Given the description of an element on the screen output the (x, y) to click on. 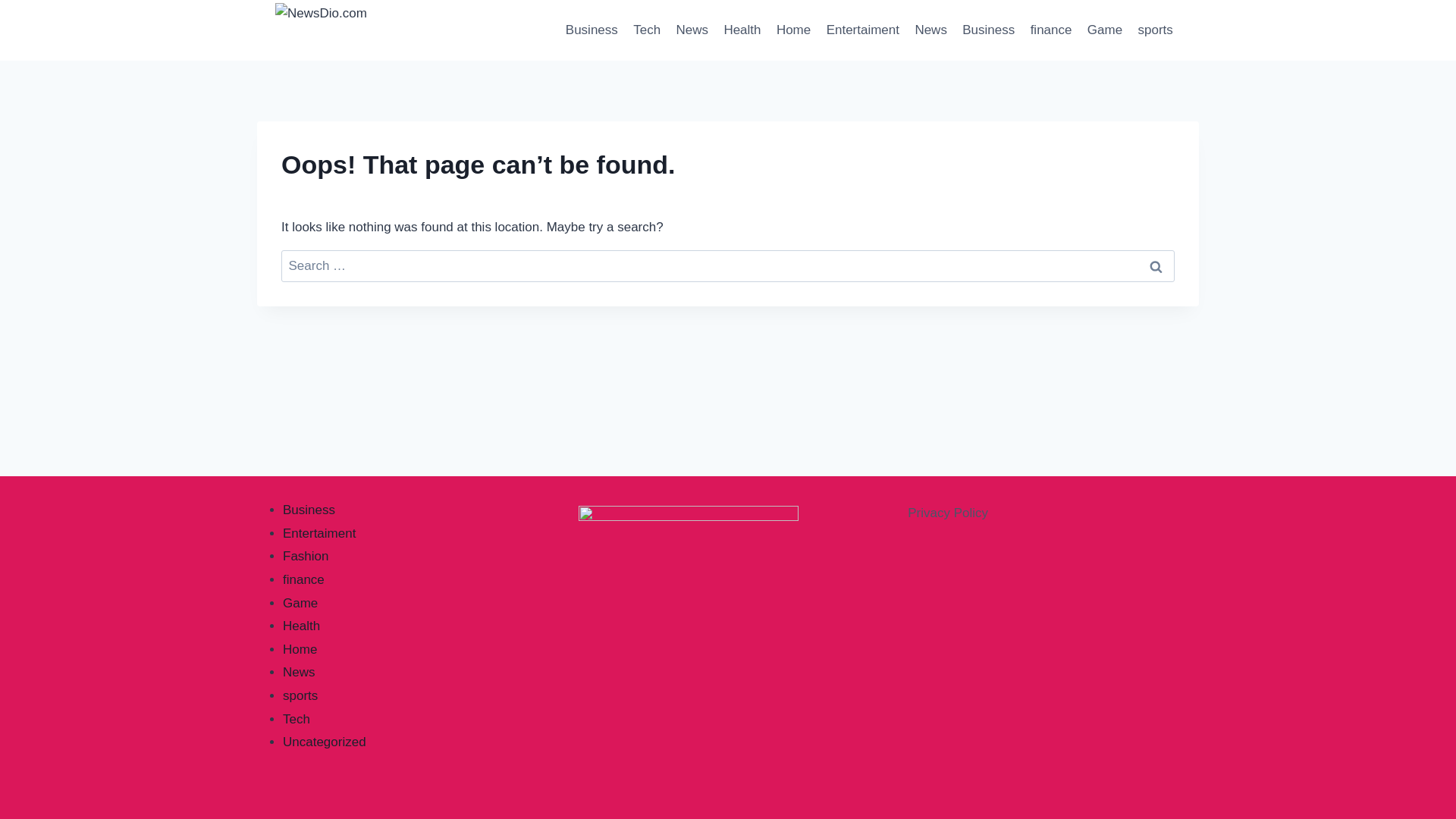
Business (591, 30)
Business (988, 30)
News (931, 30)
Entertaiment (862, 30)
Business (308, 509)
Tech (647, 30)
Uncategorized (324, 741)
Home (793, 30)
Game (299, 603)
News (298, 672)
Privacy Policy (947, 512)
Home (299, 649)
sports (299, 695)
Entertaiment (318, 533)
sports (1154, 30)
